Given the description of an element on the screen output the (x, y) to click on. 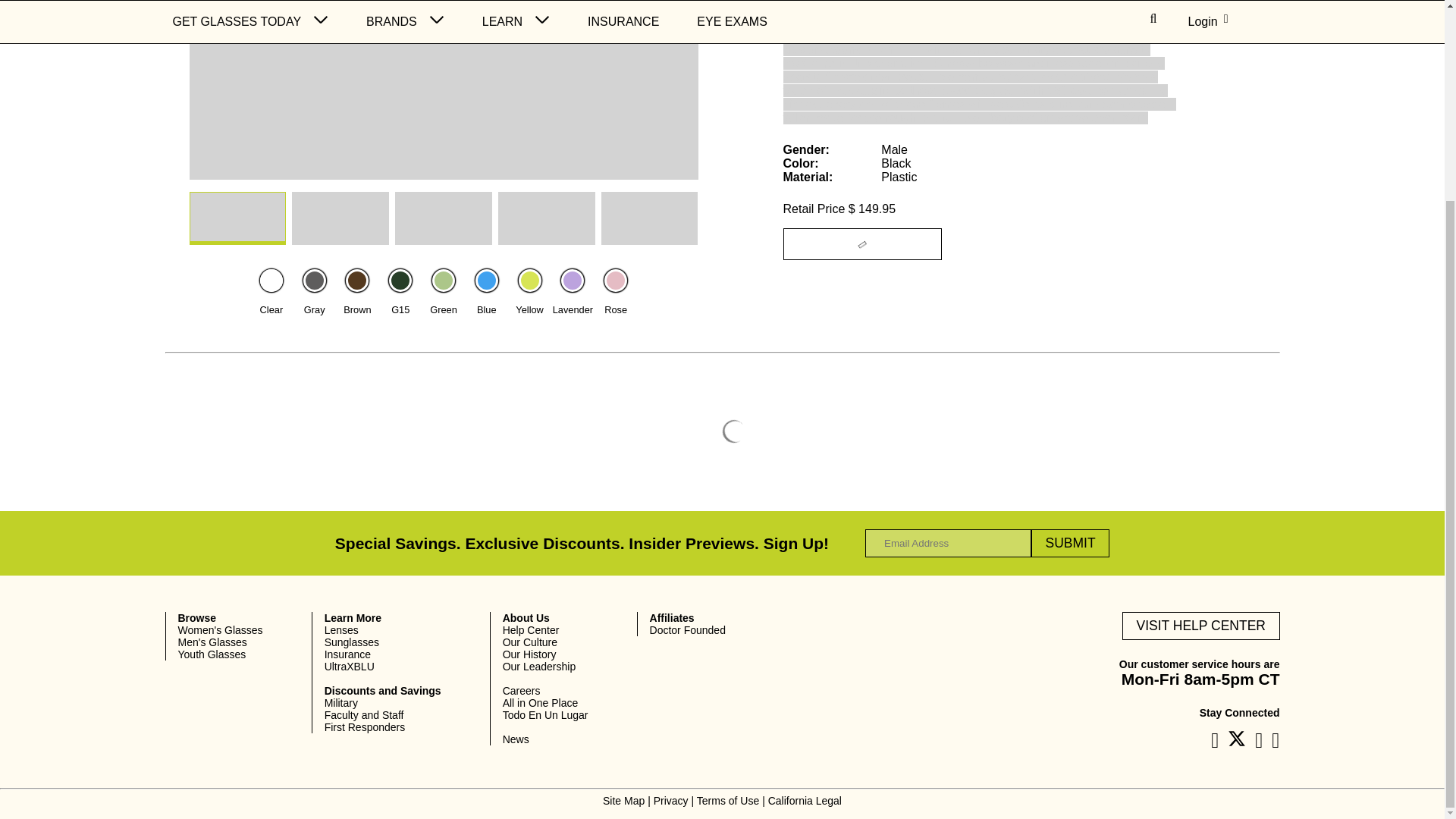
SUBMIT (1069, 543)
